Given the description of an element on the screen output the (x, y) to click on. 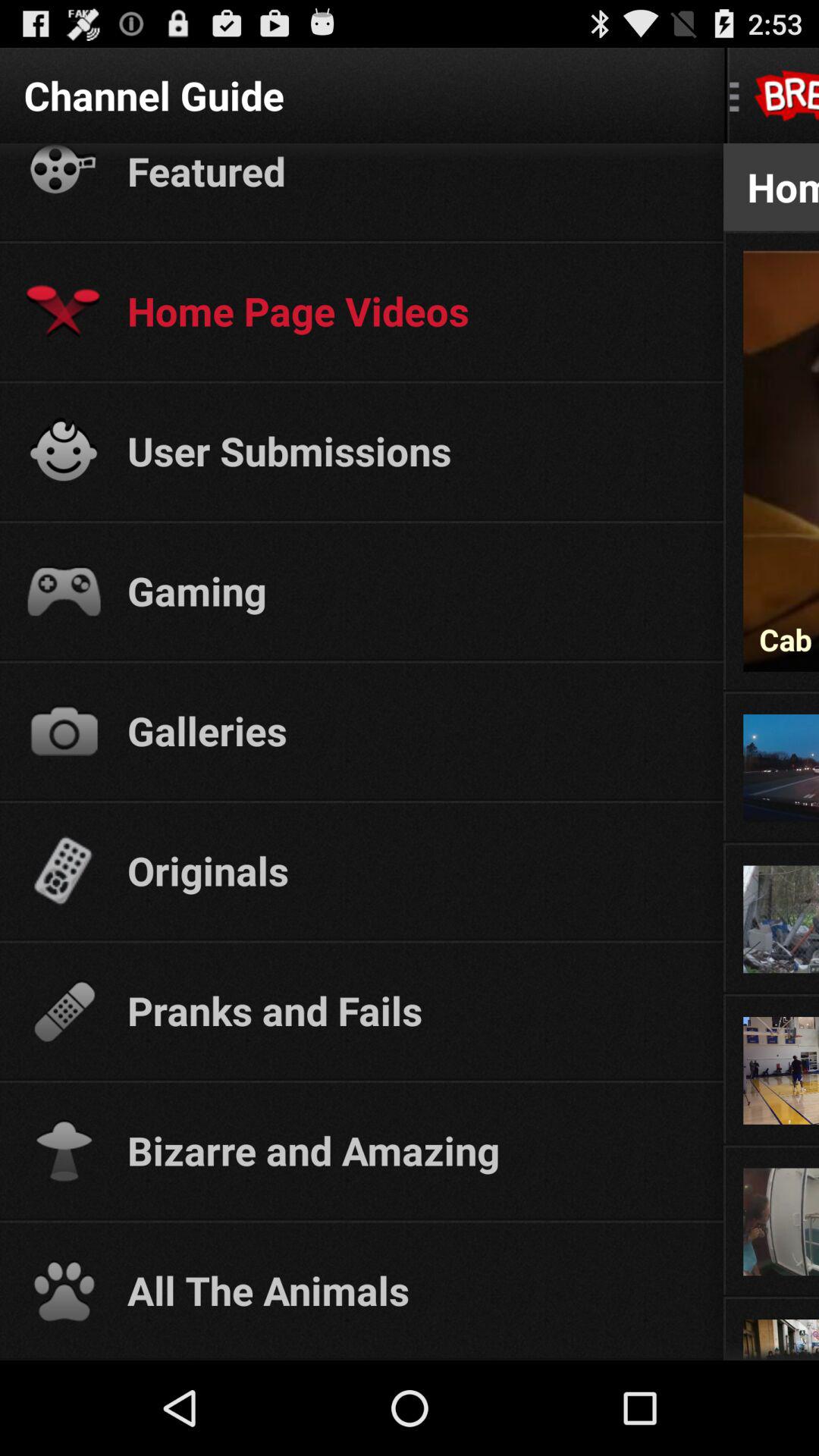
tap the item to the right of the pranks and fails item (771, 992)
